Given the description of an element on the screen output the (x, y) to click on. 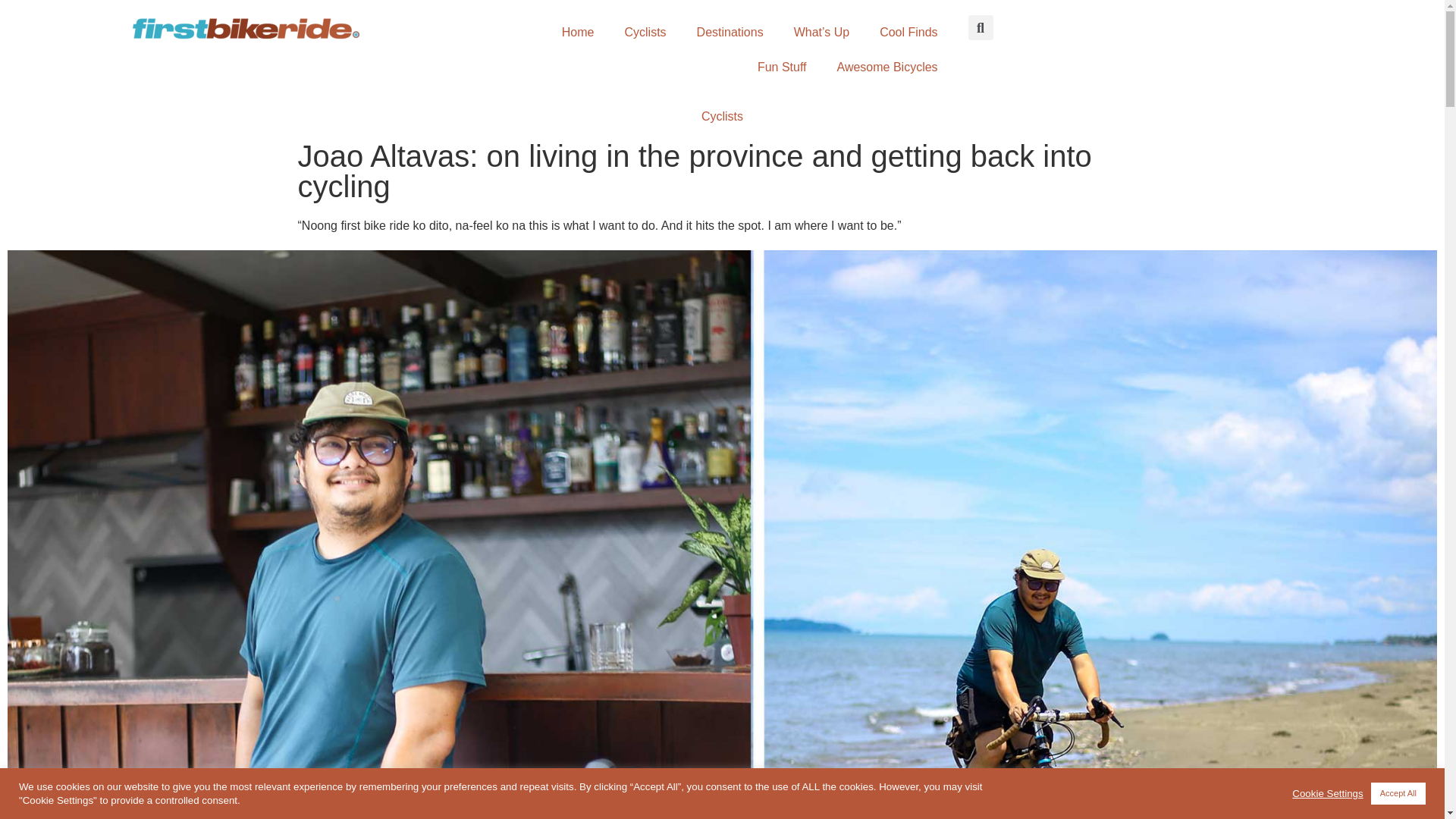
Cyclists (644, 32)
Cool Finds (908, 32)
Home (578, 32)
Destinations (729, 32)
Cyclists (721, 115)
Awesome Bicycles (887, 67)
Fun Stuff (782, 67)
